Given the description of an element on the screen output the (x, y) to click on. 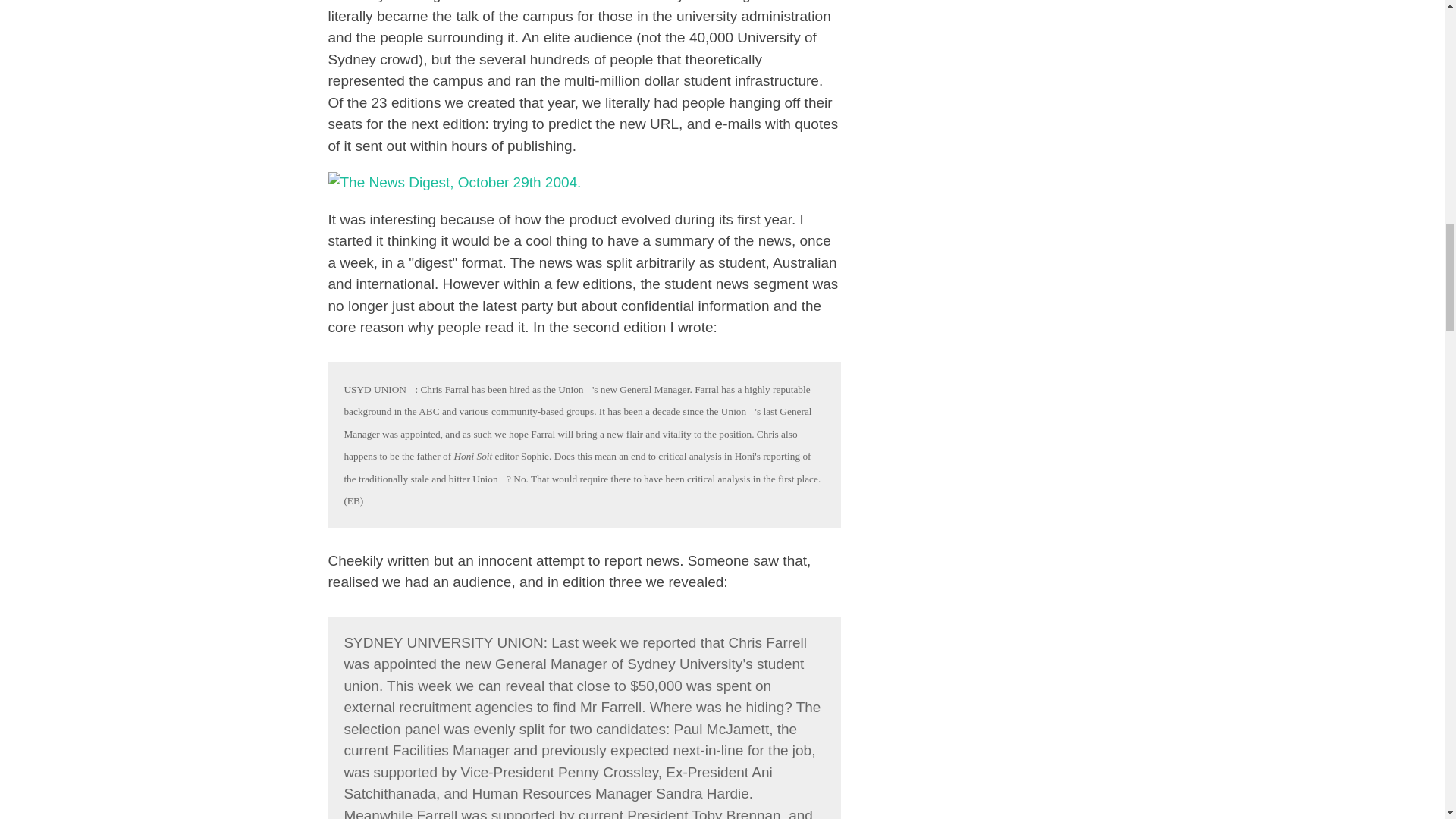
The News Digest, October 29th 2004. by liako, on Flickr (453, 182)
